Given the description of an element on the screen output the (x, y) to click on. 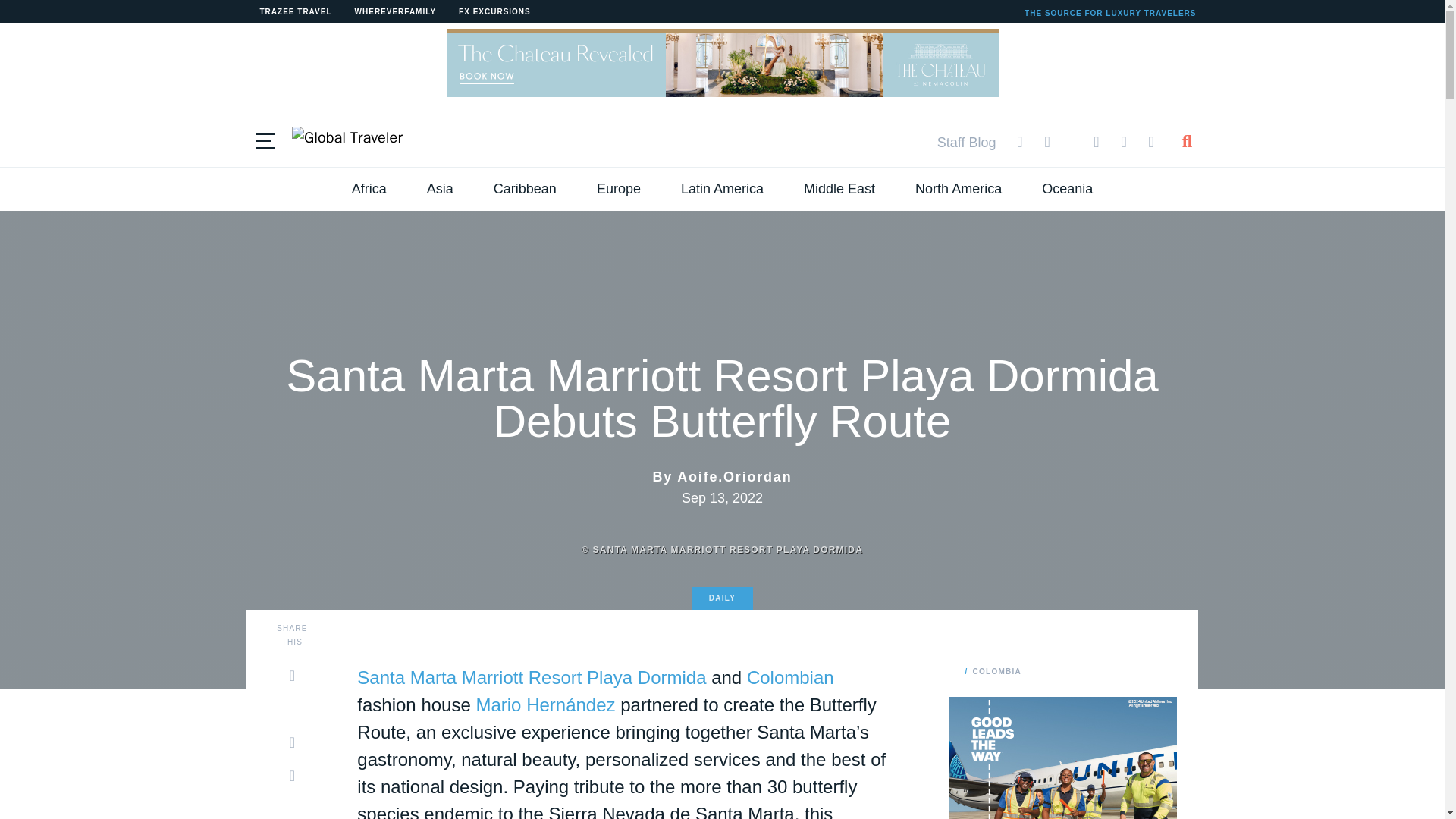
TRAZEE TRAVEL (295, 11)
WHEREVERFAMILY (395, 11)
FX EXCURSIONS (493, 11)
